Given the description of an element on the screen output the (x, y) to click on. 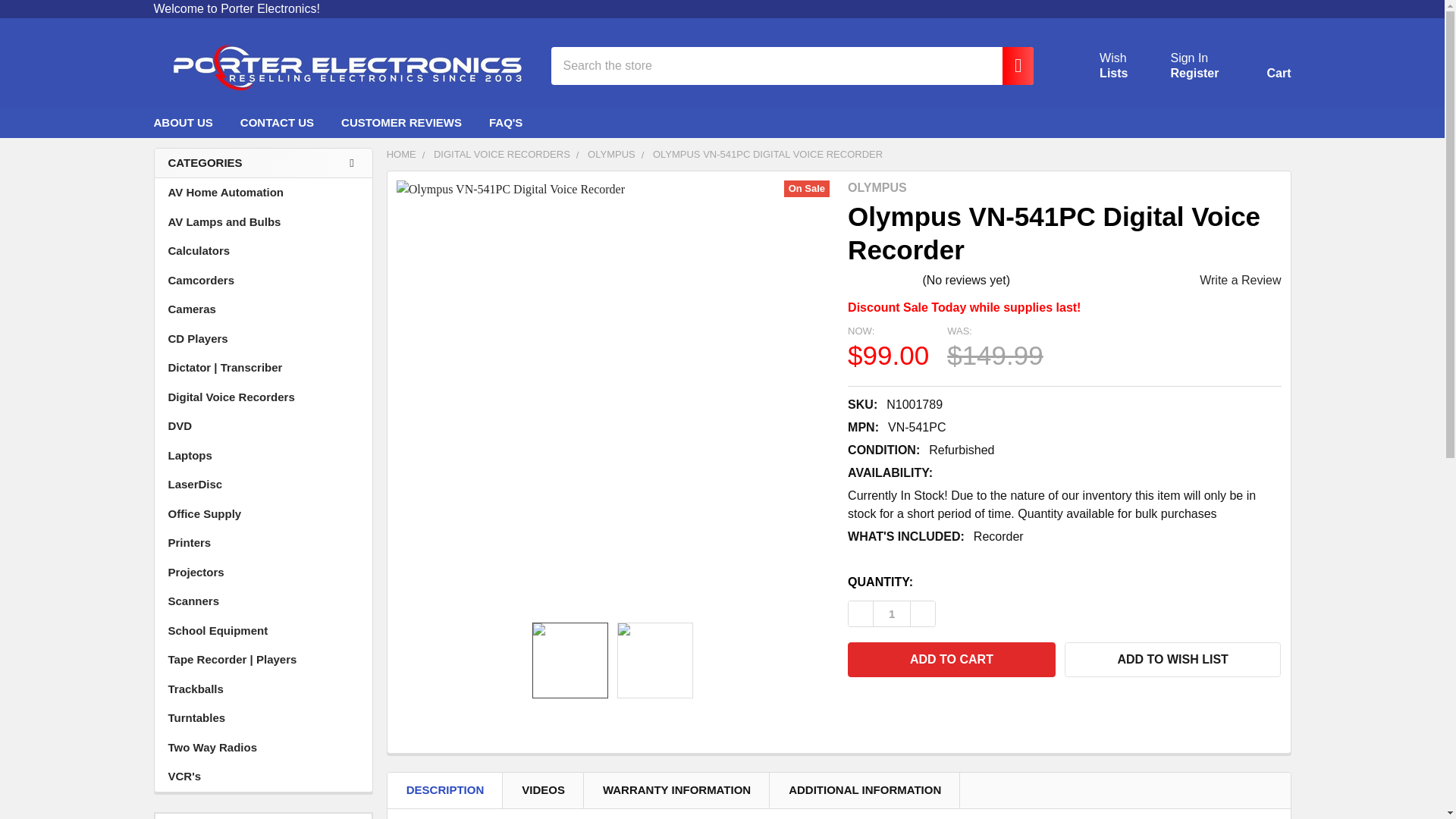
Porter Electronics (1095, 65)
Olympus VN-541PC Digital Voice Recorder (342, 65)
Add to Cart (1194, 73)
Wish Lists (951, 659)
Sign In (1095, 65)
Cart (1189, 58)
Olympus VN-541PC Digital Voice Recorder (1260, 69)
Search (569, 660)
Cart (1010, 65)
Search (1260, 69)
1 (1010, 65)
Olympus VN-541PC Digital Voice Recorder (891, 613)
